Given the description of an element on the screen output the (x, y) to click on. 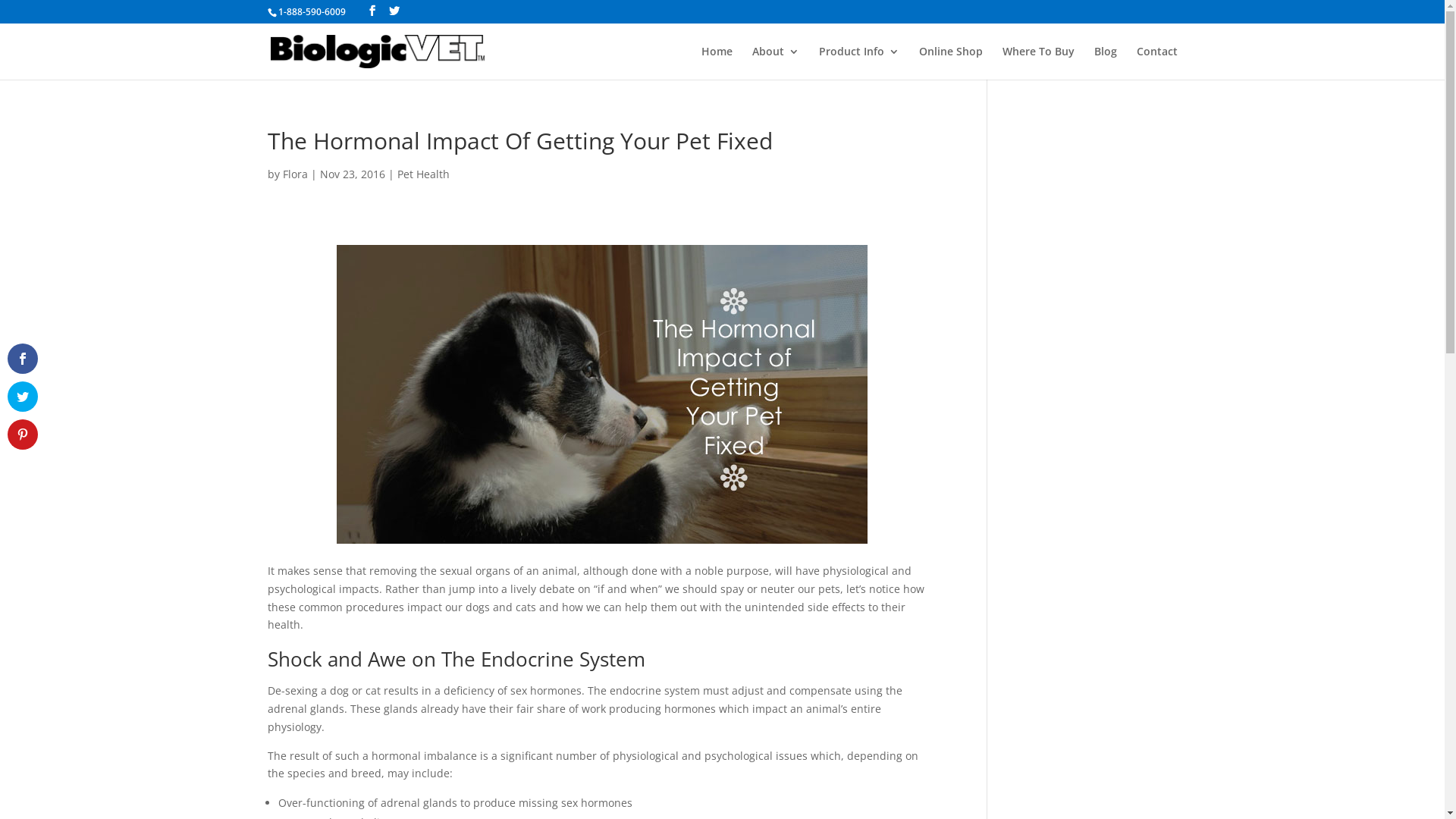
Pet Health Element type: text (423, 173)
Contact Element type: text (1155, 62)
Online Shop Element type: text (950, 62)
Where To Buy Element type: text (1038, 62)
Product Info Element type: text (859, 62)
Home Element type: text (715, 62)
Blog Element type: text (1104, 62)
About Element type: text (775, 62)
Flora Element type: text (294, 173)
